Given the description of an element on the screen output the (x, y) to click on. 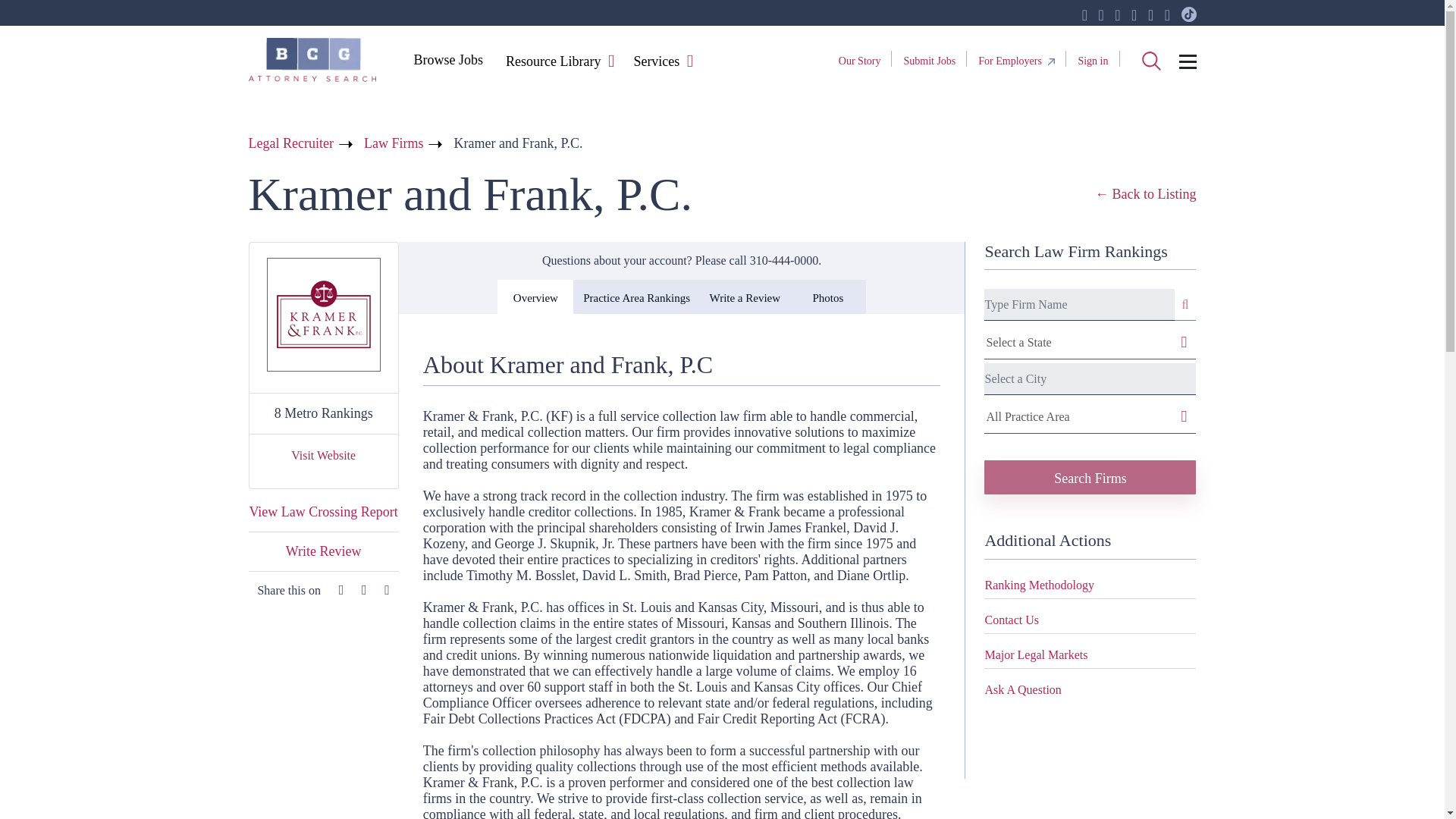
Resource Library (553, 62)
Browse Jobs (448, 59)
Services (655, 62)
BCG Attorney Search Tiktok (1188, 14)
